Given the description of an element on the screen output the (x, y) to click on. 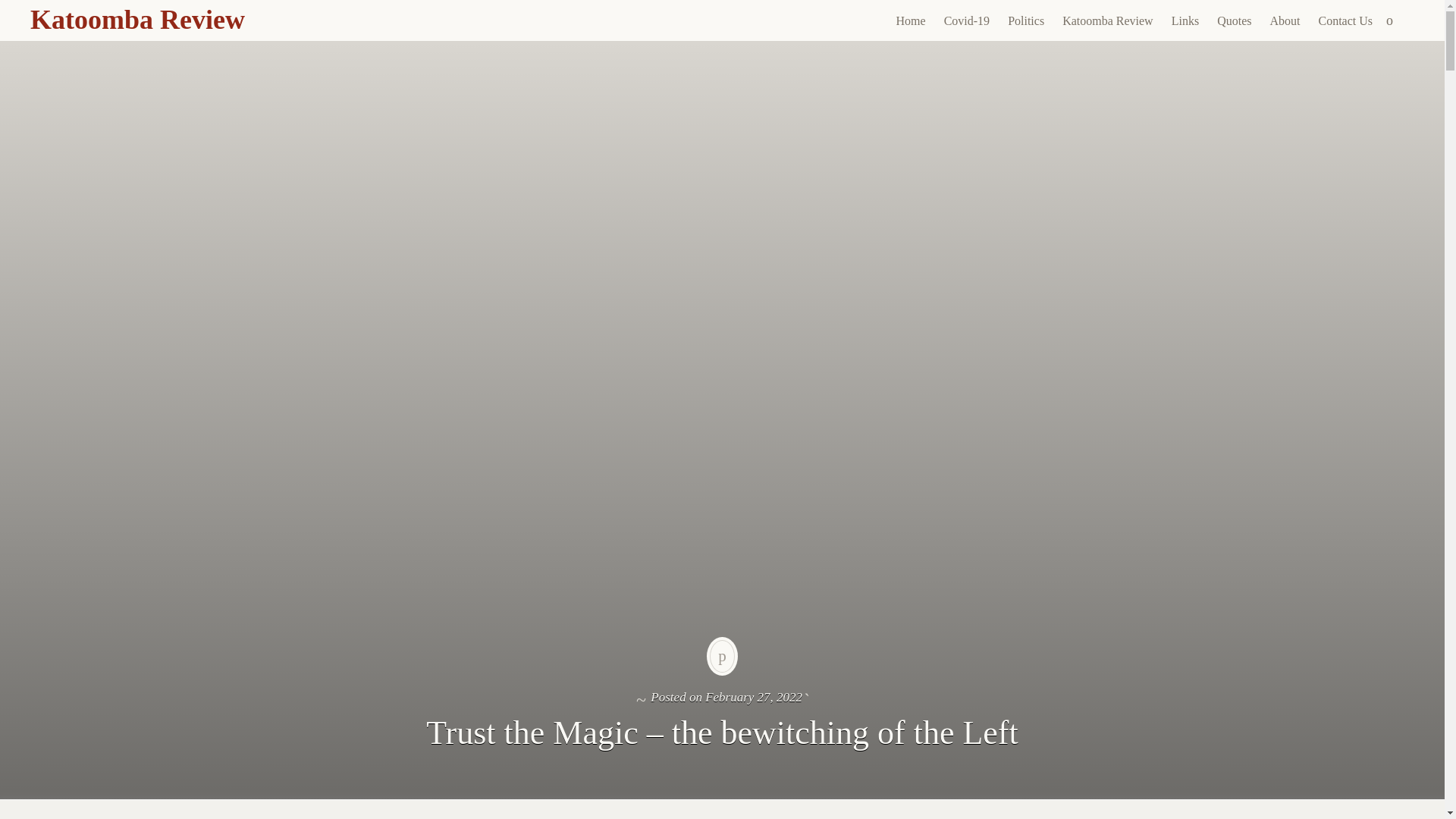
Katoomba Review (137, 19)
February 27, 2022 (753, 697)
Links (1185, 21)
Katoomba Review (1107, 21)
Covid-19 (966, 21)
Search (11, 9)
Politics (1025, 21)
Contact Us (1345, 21)
Home (910, 21)
Katoomba Review (137, 19)
About (1284, 21)
Quotes (1234, 21)
